Given the description of an element on the screen output the (x, y) to click on. 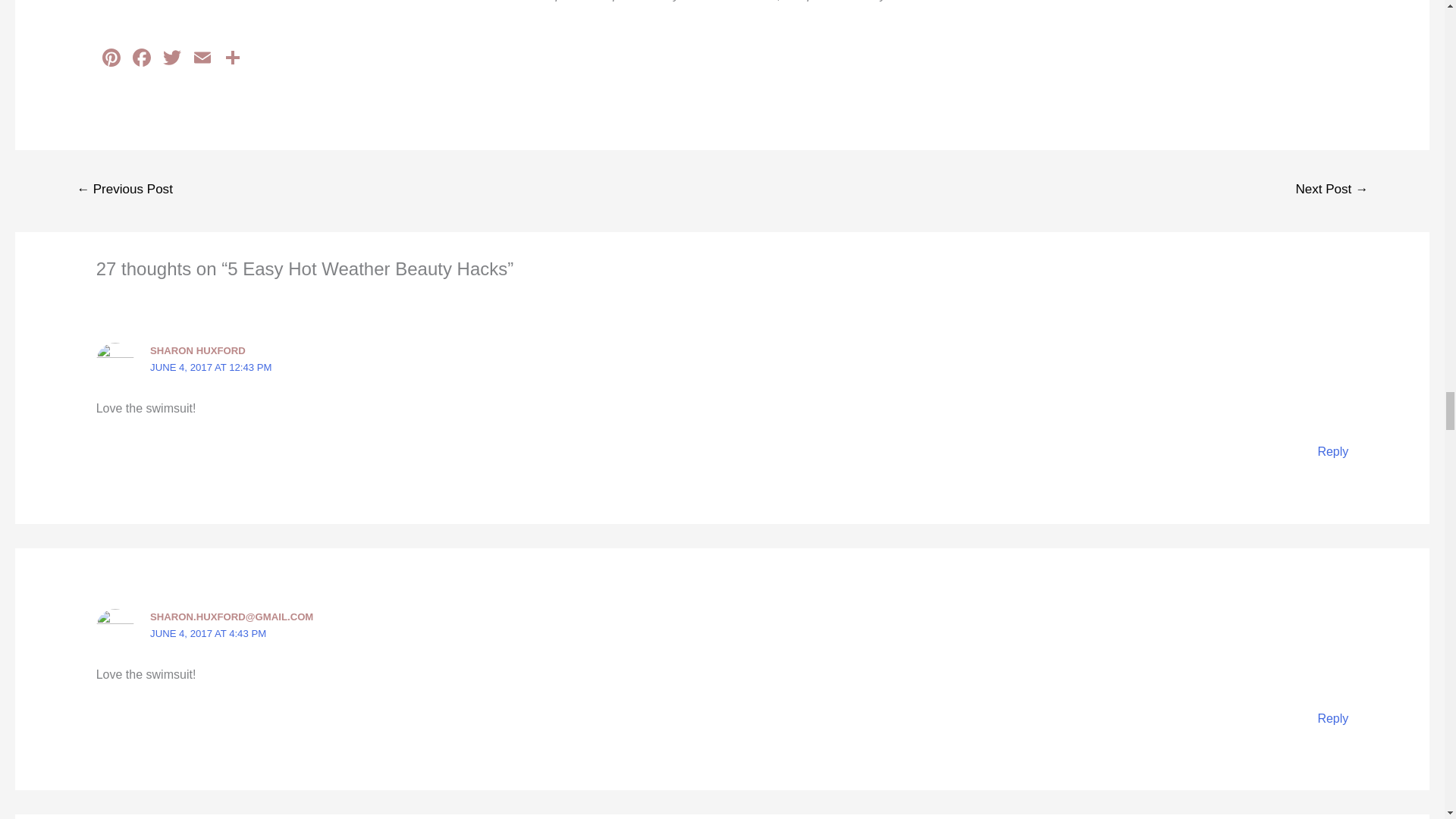
Twitter (172, 59)
Facebook (141, 59)
Pinterest (111, 59)
Email (201, 59)
